Given the description of an element on the screen output the (x, y) to click on. 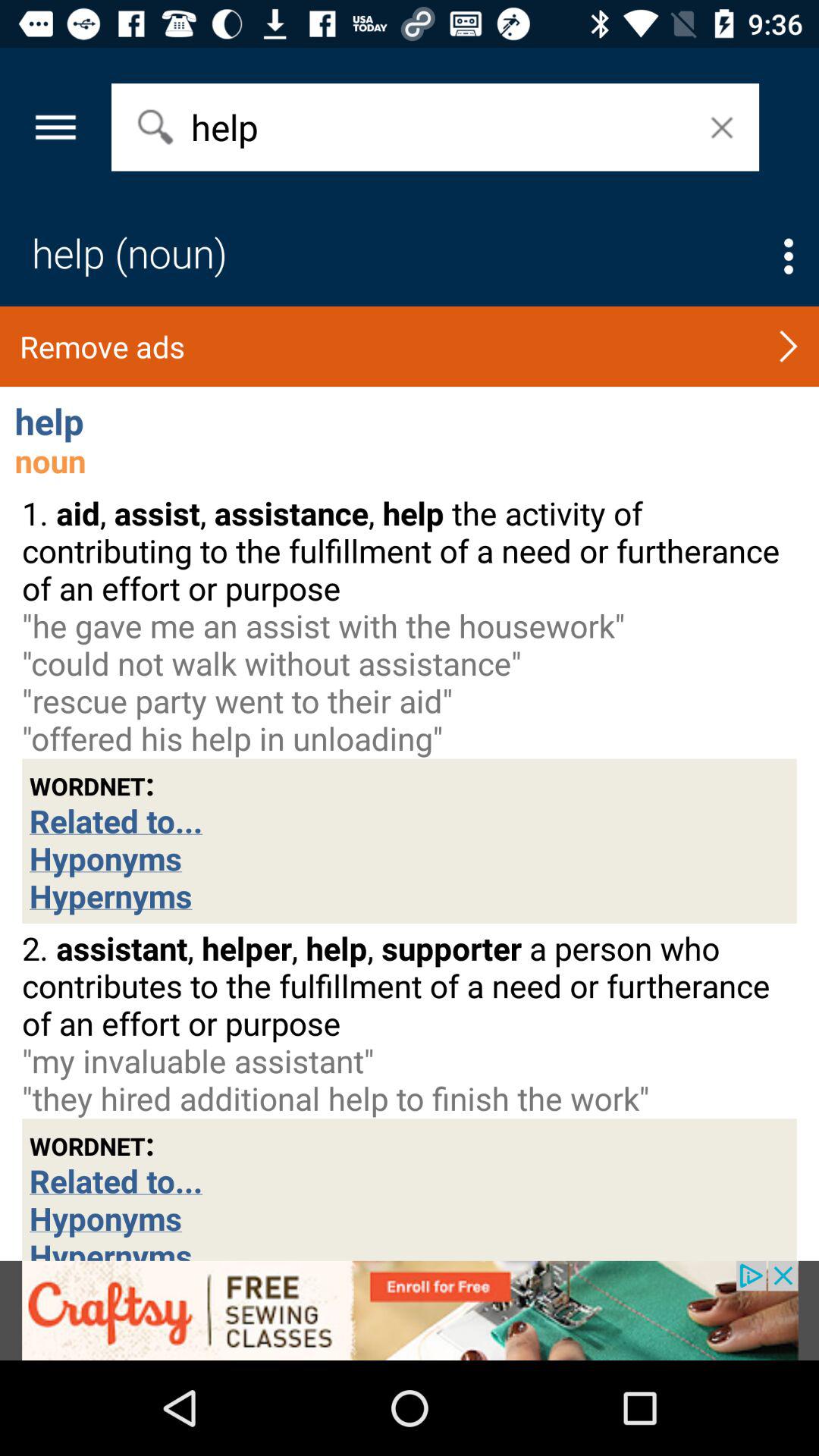
options menu (788, 256)
